Given the description of an element on the screen output the (x, y) to click on. 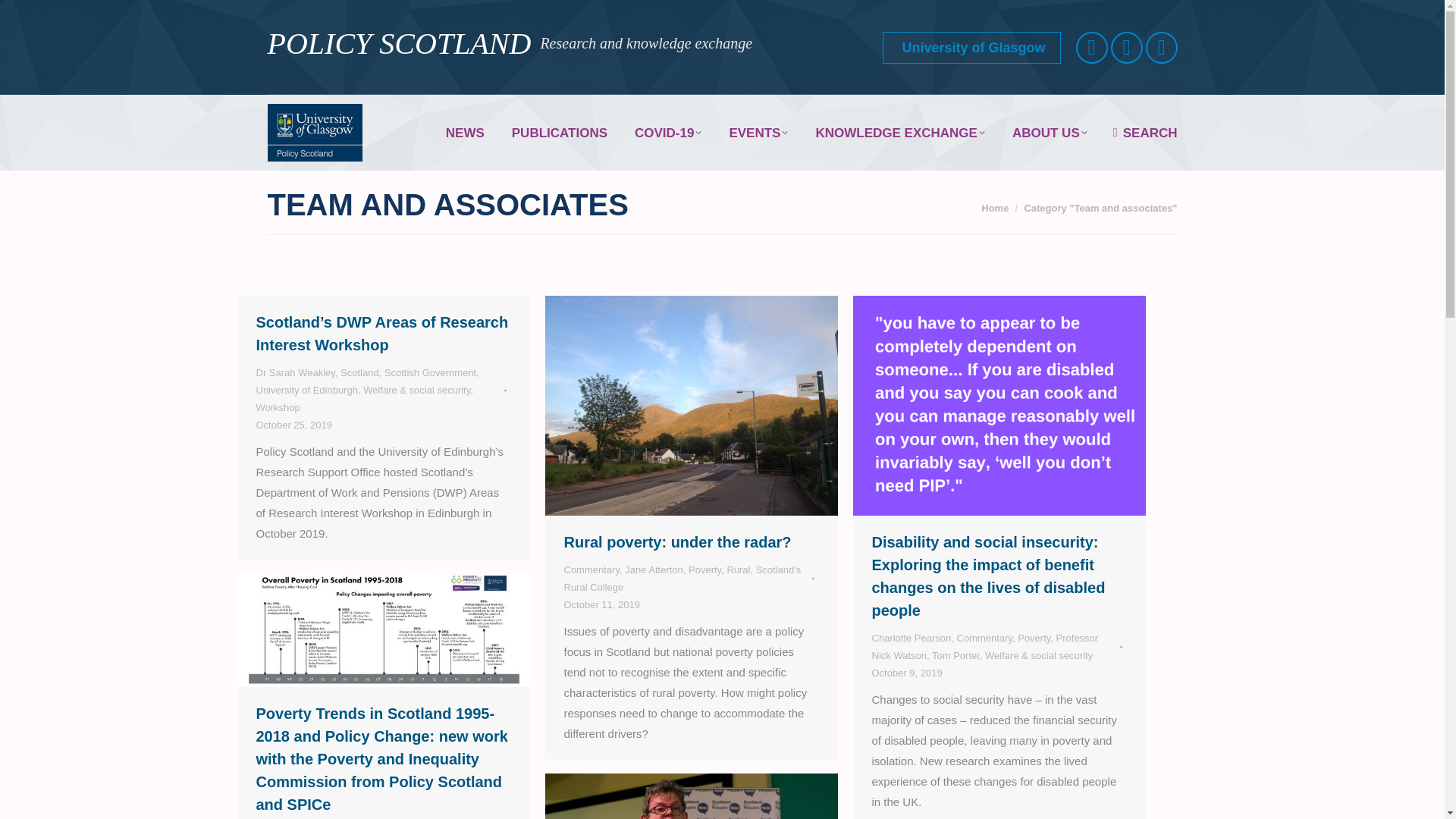
Home (995, 206)
X page opens in new window (1091, 47)
KNOWLEDGE EXCHANGE (899, 132)
YouTube page opens in new window (1126, 47)
EVENTS (757, 132)
YouTube page opens in new window (1126, 47)
X page opens in new window (1091, 47)
COVID-19 (667, 132)
NEWS (464, 132)
University of Glasgow (970, 47)
SEARCH (1145, 132)
Linkedin page opens in new window (1161, 47)
Linkedin page opens in new window (1161, 47)
PUBLICATIONS (559, 132)
Go! (24, 16)
